Given the description of an element on the screen output the (x, y) to click on. 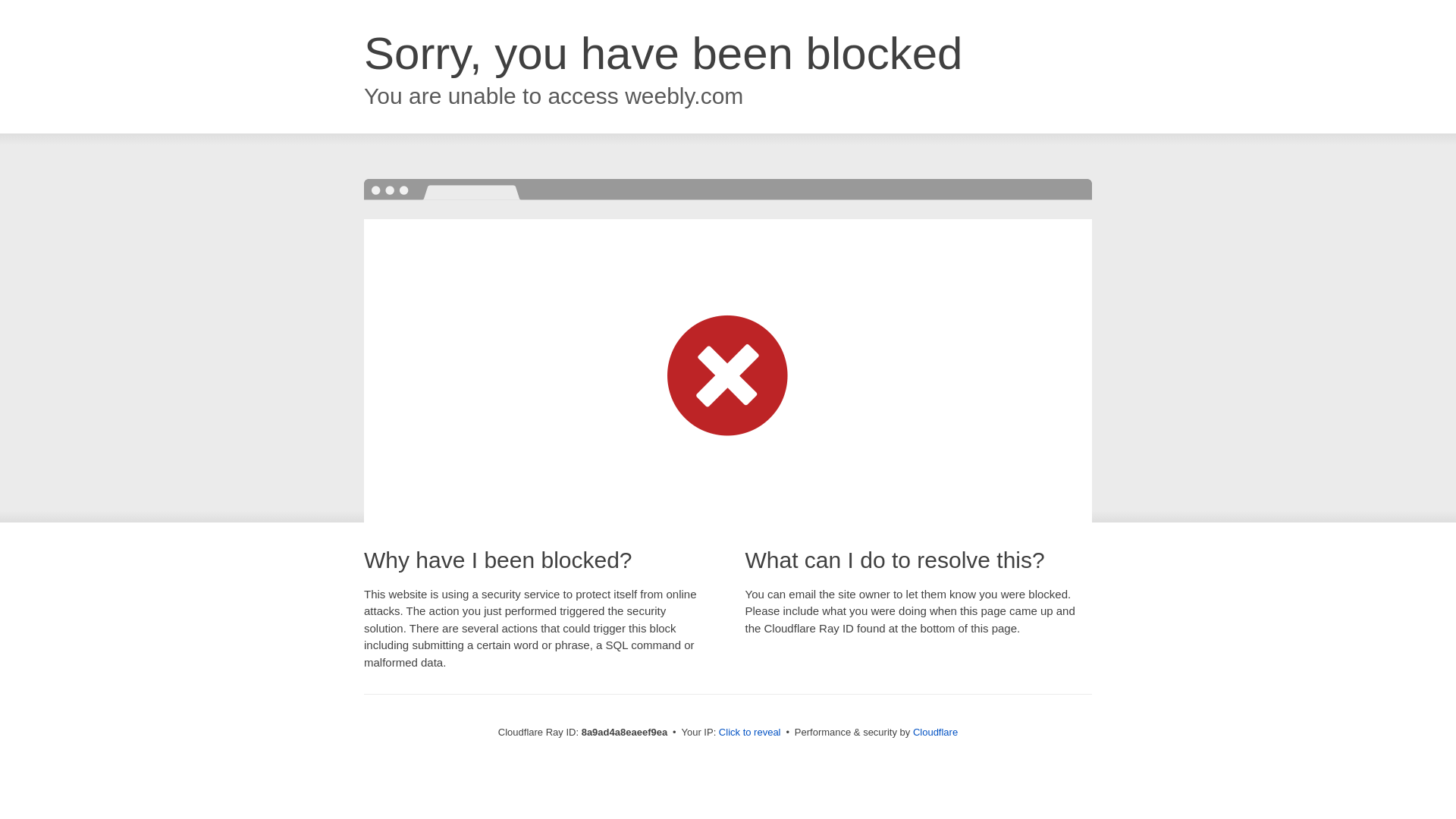
Click to reveal (749, 732)
Cloudflare (935, 731)
